Given the description of an element on the screen output the (x, y) to click on. 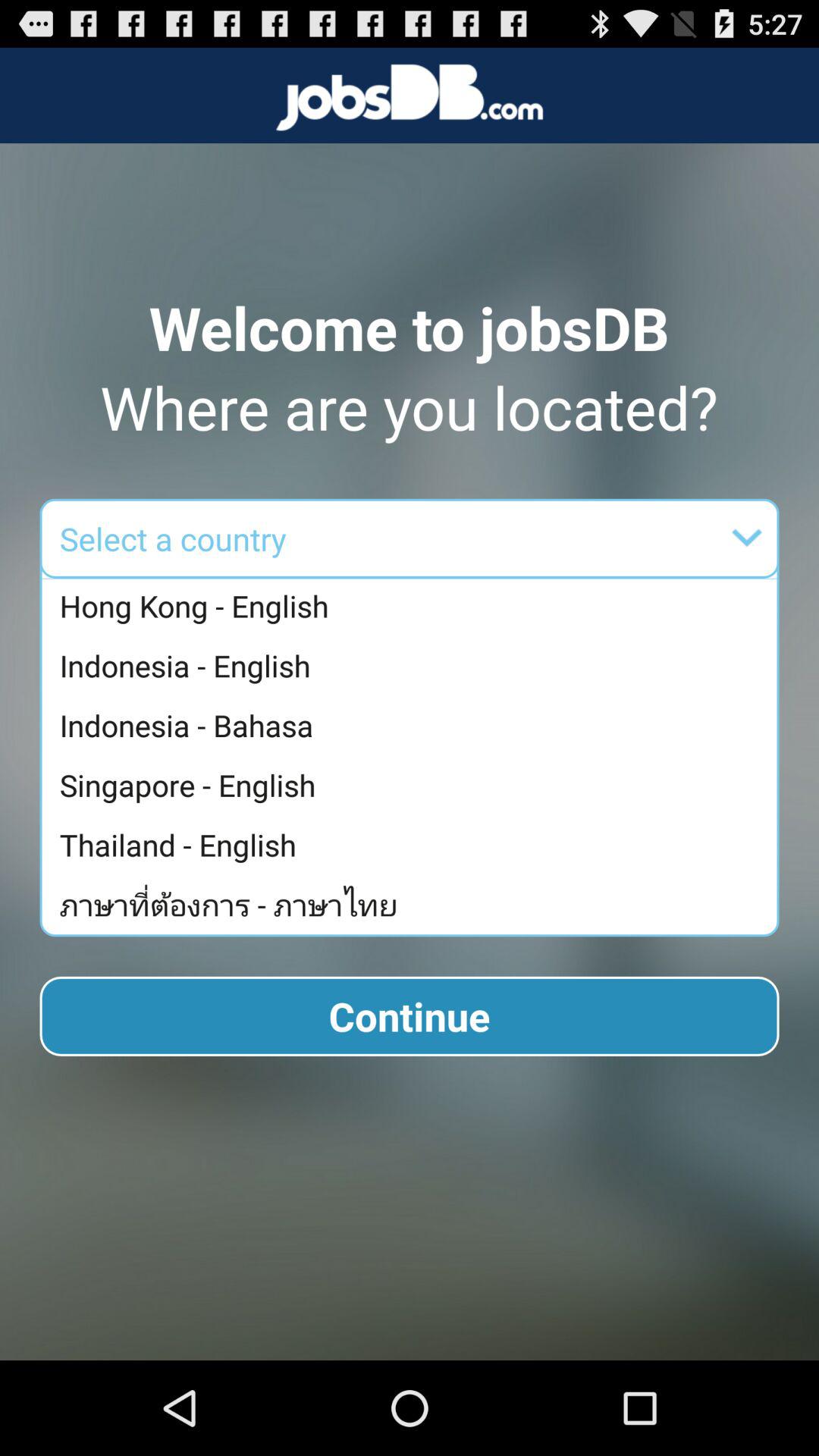
turn off hong kong - english item (413, 606)
